Given the description of an element on the screen output the (x, y) to click on. 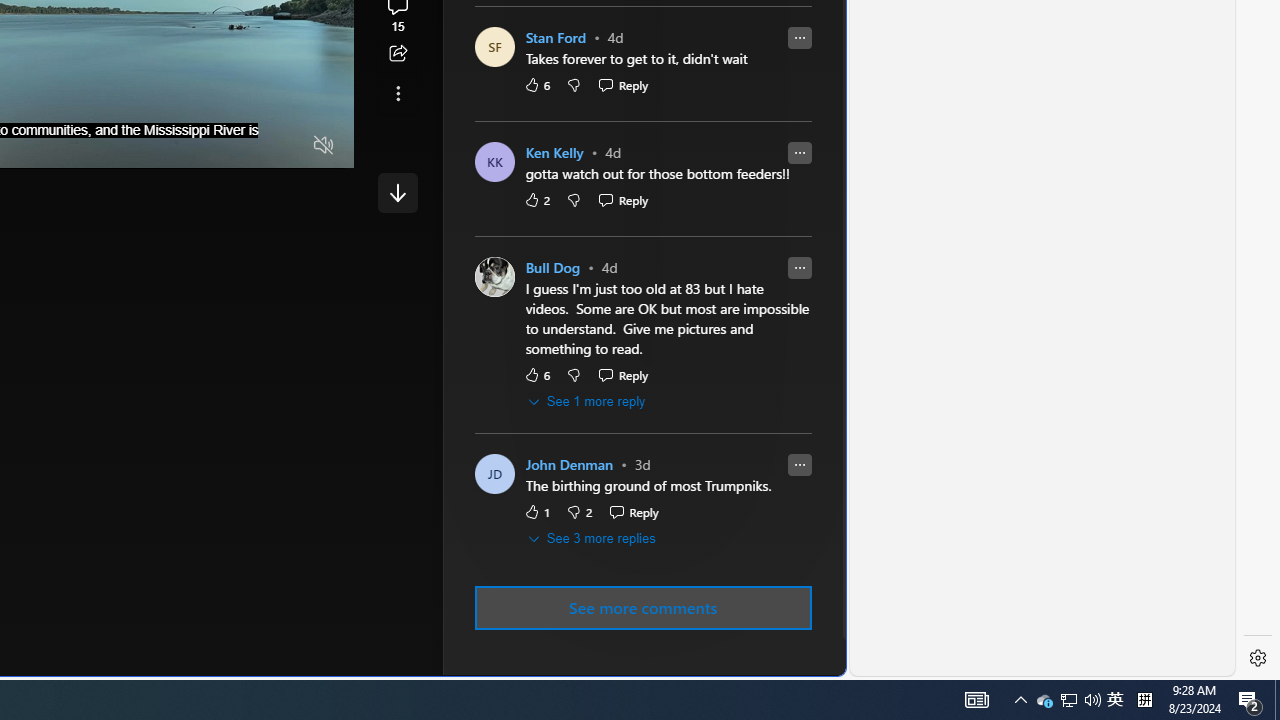
ABC News (545, 12)
2 Like (536, 200)
Class: control (397, 192)
Bull Dog (552, 268)
1 Like (536, 511)
Ken Kelly (553, 153)
Unmute (324, 146)
See 1 more reply (587, 402)
Fullscreen (285, 146)
